Given the description of an element on the screen output the (x, y) to click on. 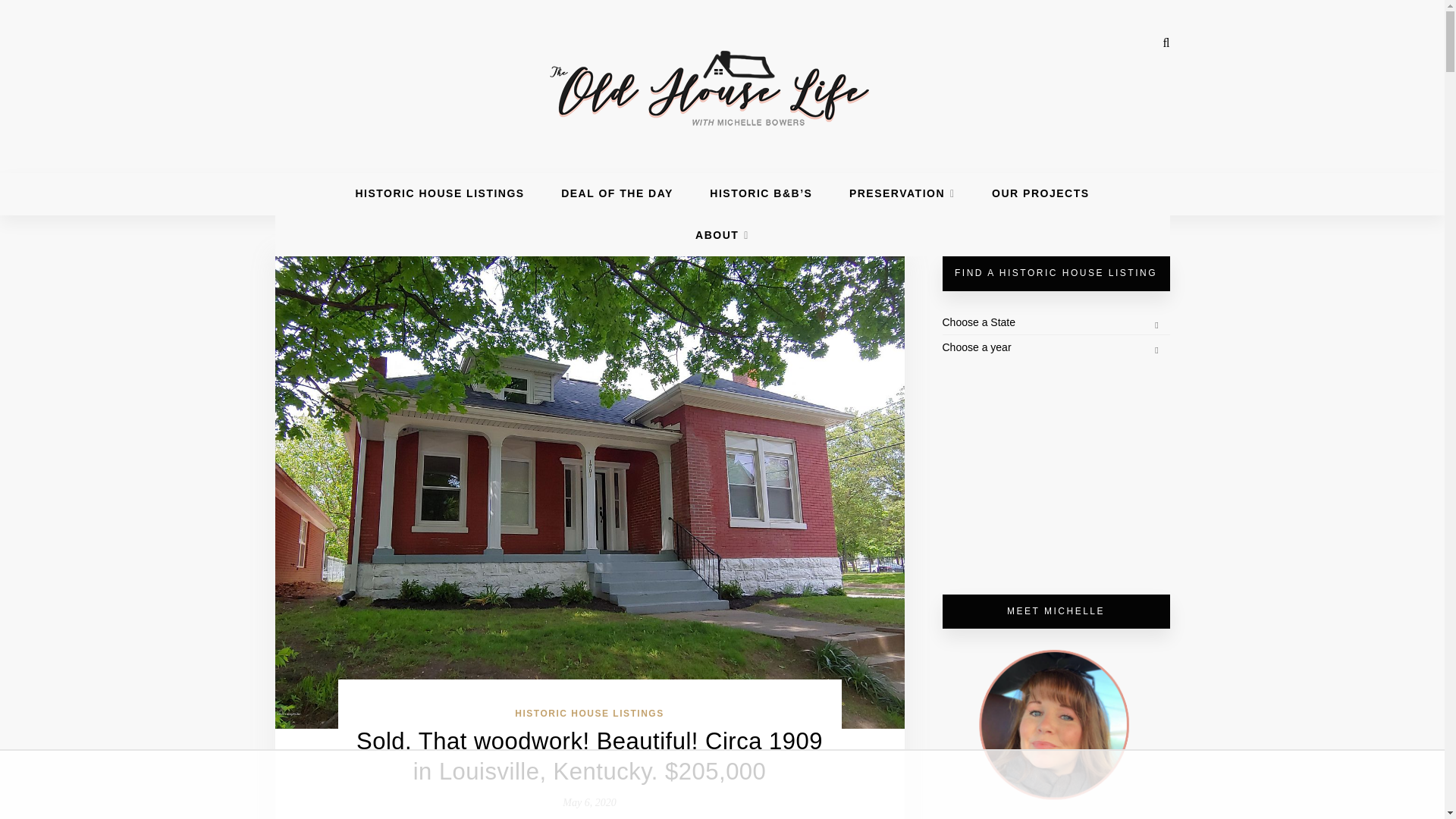
HISTORIC HOUSE LISTINGS (439, 192)
HISTORIC HOUSE LISTINGS (589, 713)
PRESERVATION (901, 193)
ABOUT (722, 235)
May 6, 2020 (588, 802)
DEAL OF THE DAY (616, 192)
OUR PROJECTS (1040, 192)
